Given the description of an element on the screen output the (x, y) to click on. 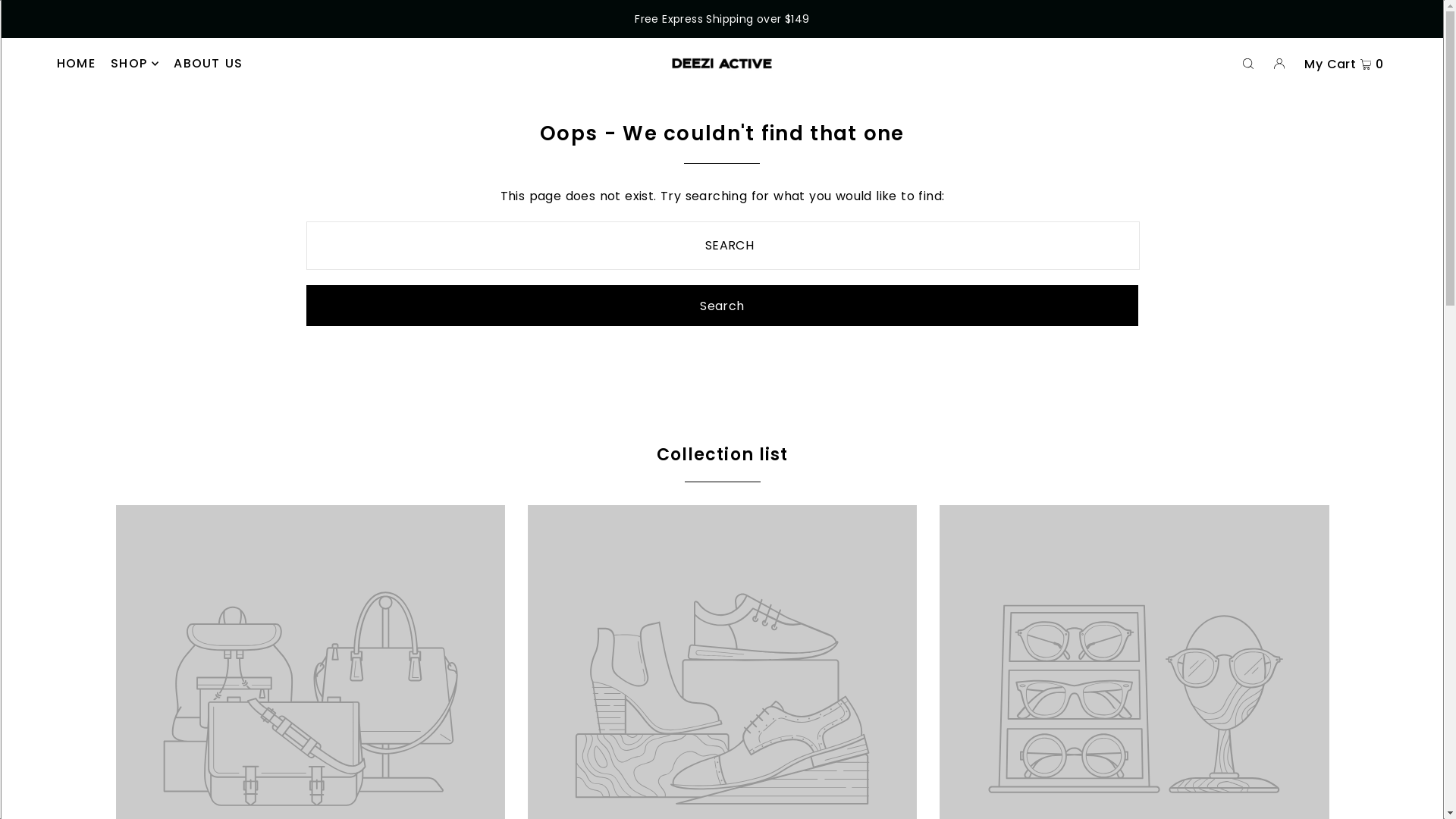
ABOUT US Element type: text (207, 63)
SHOP Element type: text (134, 63)
HOME Element type: text (75, 63)
Search Element type: text (722, 305)
